Given the description of an element on the screen output the (x, y) to click on. 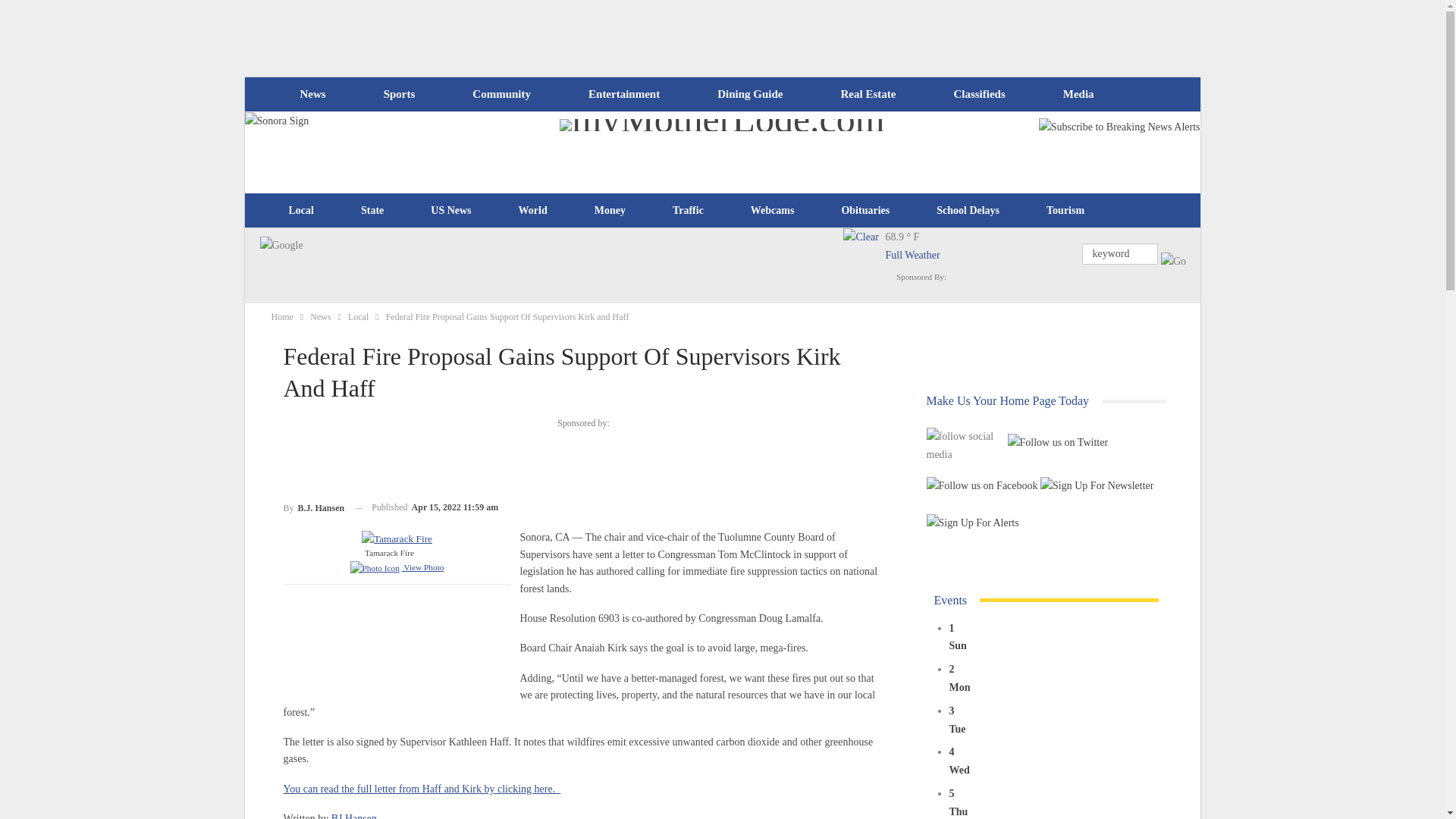
World (532, 210)
Classifieds (979, 93)
Webcams (772, 210)
Dining Guide (749, 93)
Submit (1173, 261)
Real Estate (868, 93)
Clear (864, 249)
Money (609, 210)
